Given the description of an element on the screen output the (x, y) to click on. 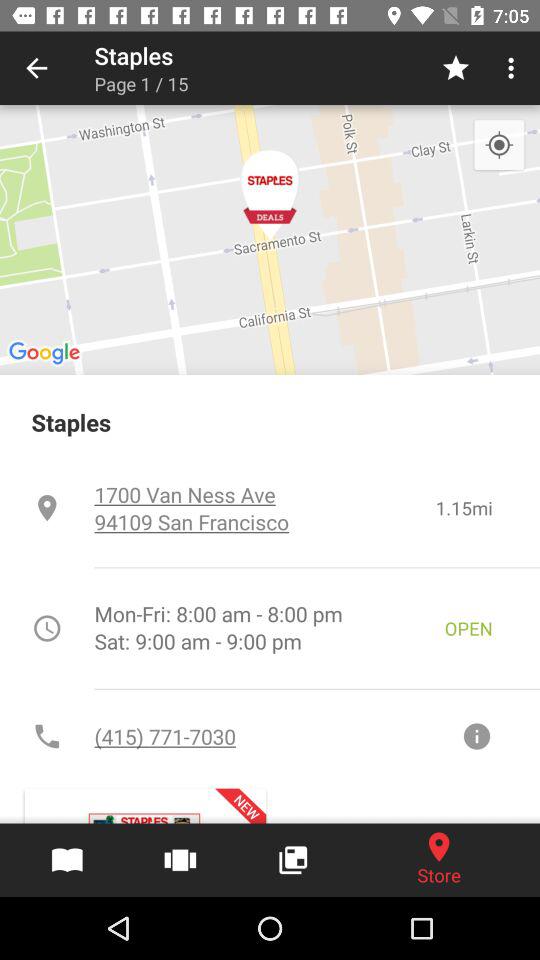
jump until (415) 771-7030 icon (277, 736)
